Given the description of an element on the screen output the (x, y) to click on. 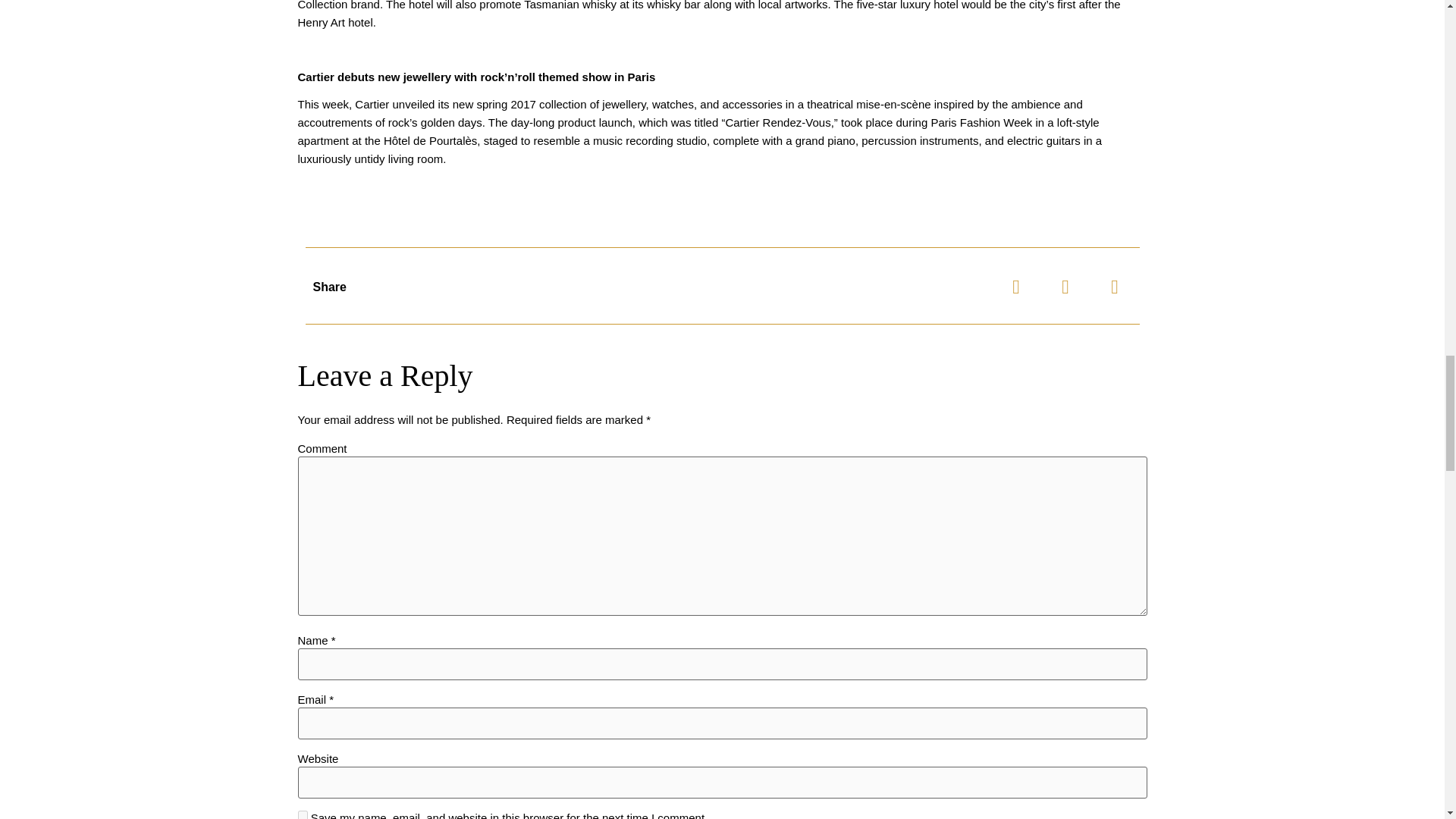
yes (302, 814)
